Given the description of an element on the screen output the (x, y) to click on. 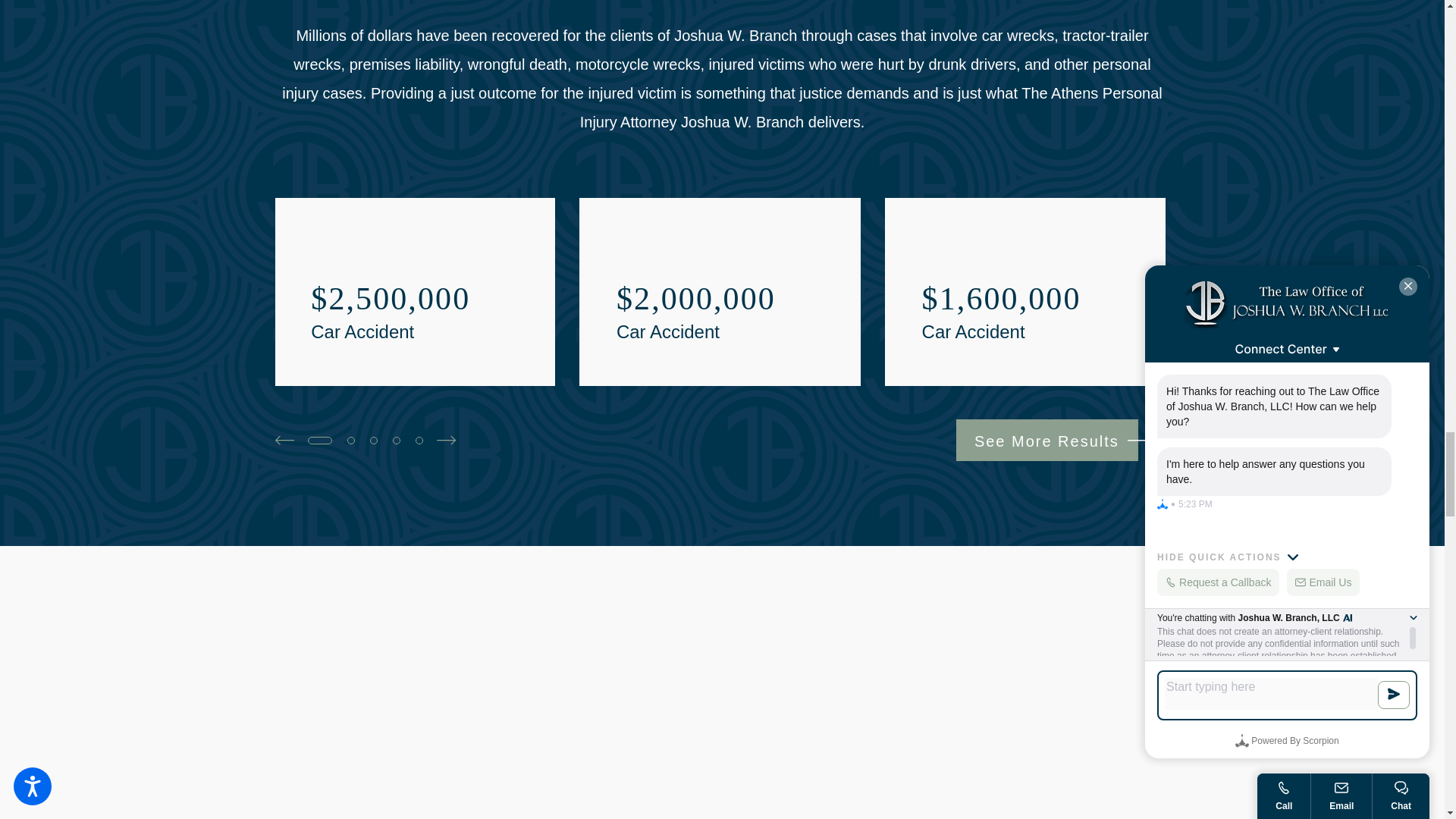
View Item 1 (319, 440)
View Item 10 (396, 440)
View next item (445, 439)
View previous item (284, 439)
View Item 7 (373, 440)
View Item 13 (418, 440)
View Item 4 (351, 440)
